Given the description of an element on the screen output the (x, y) to click on. 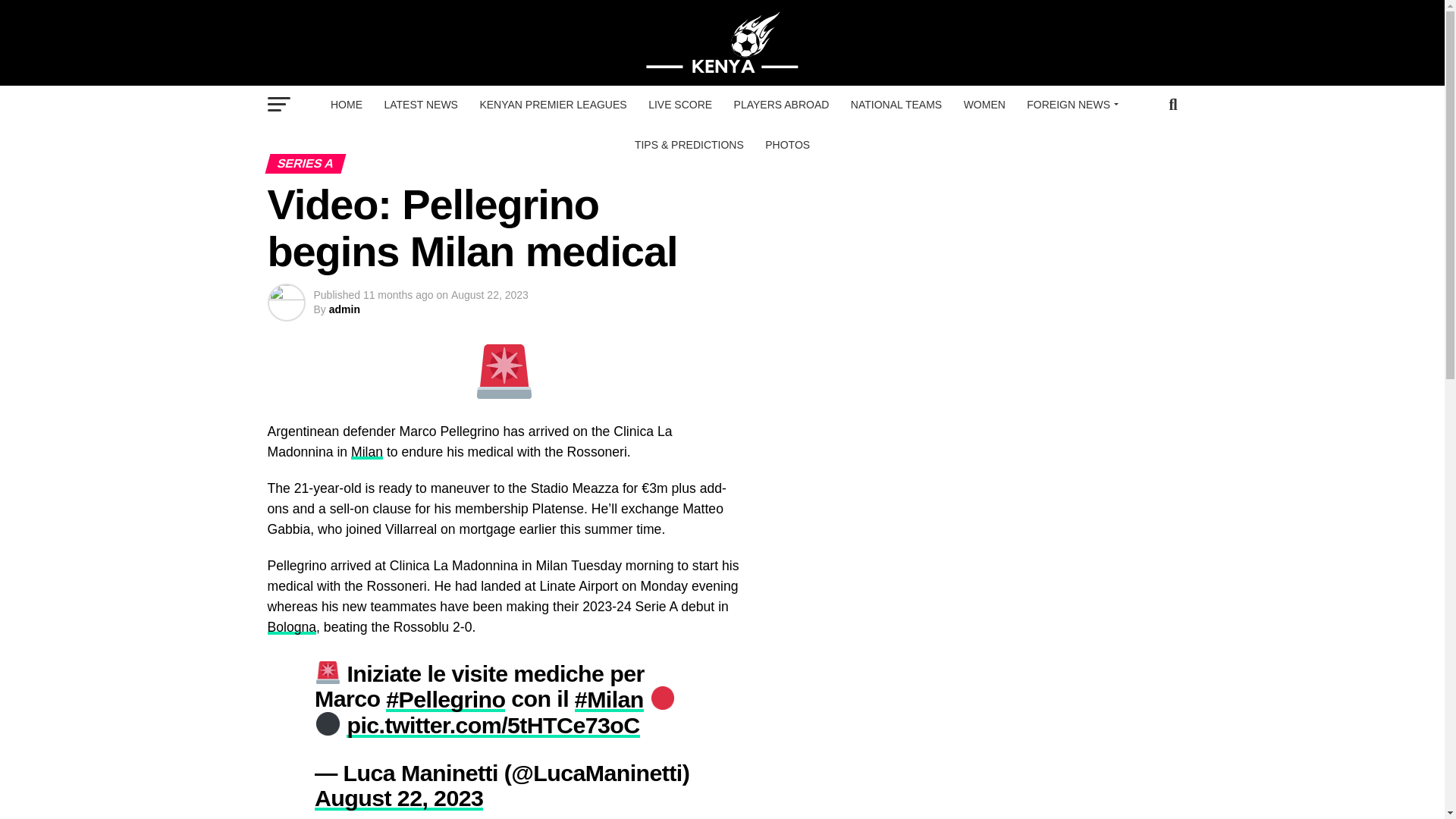
KENYAN PREMIER LEAGUES (552, 104)
HOME (346, 104)
FOREIGN NEWS (1069, 104)
WOMEN (984, 104)
PLAYERS ABROAD (781, 104)
LIVE SCORE (679, 104)
LATEST NEWS (420, 104)
NATIONAL TEAMS (895, 104)
